Given the description of an element on the screen output the (x, y) to click on. 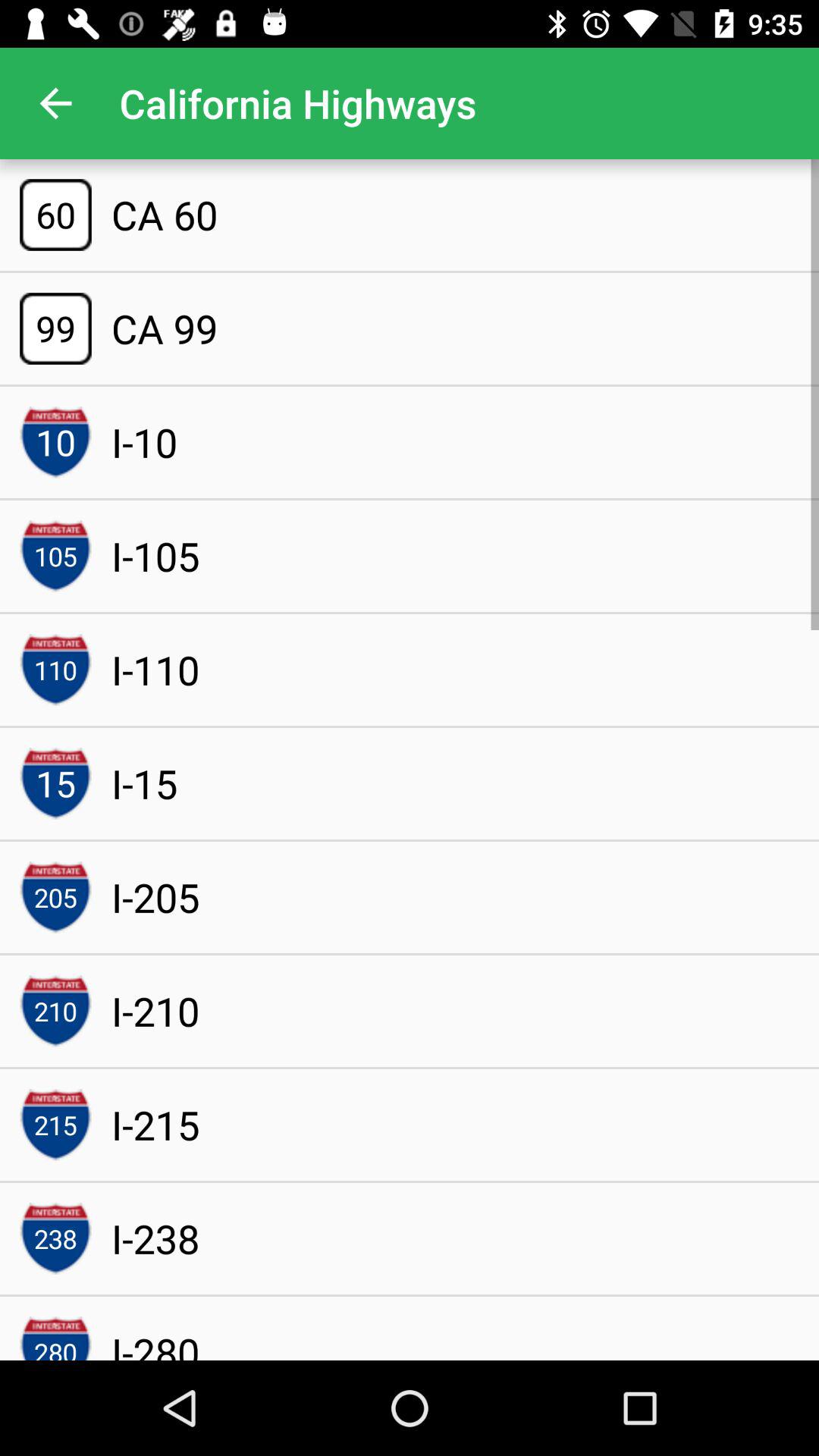
scroll to i-105 (155, 555)
